Given the description of an element on the screen output the (x, y) to click on. 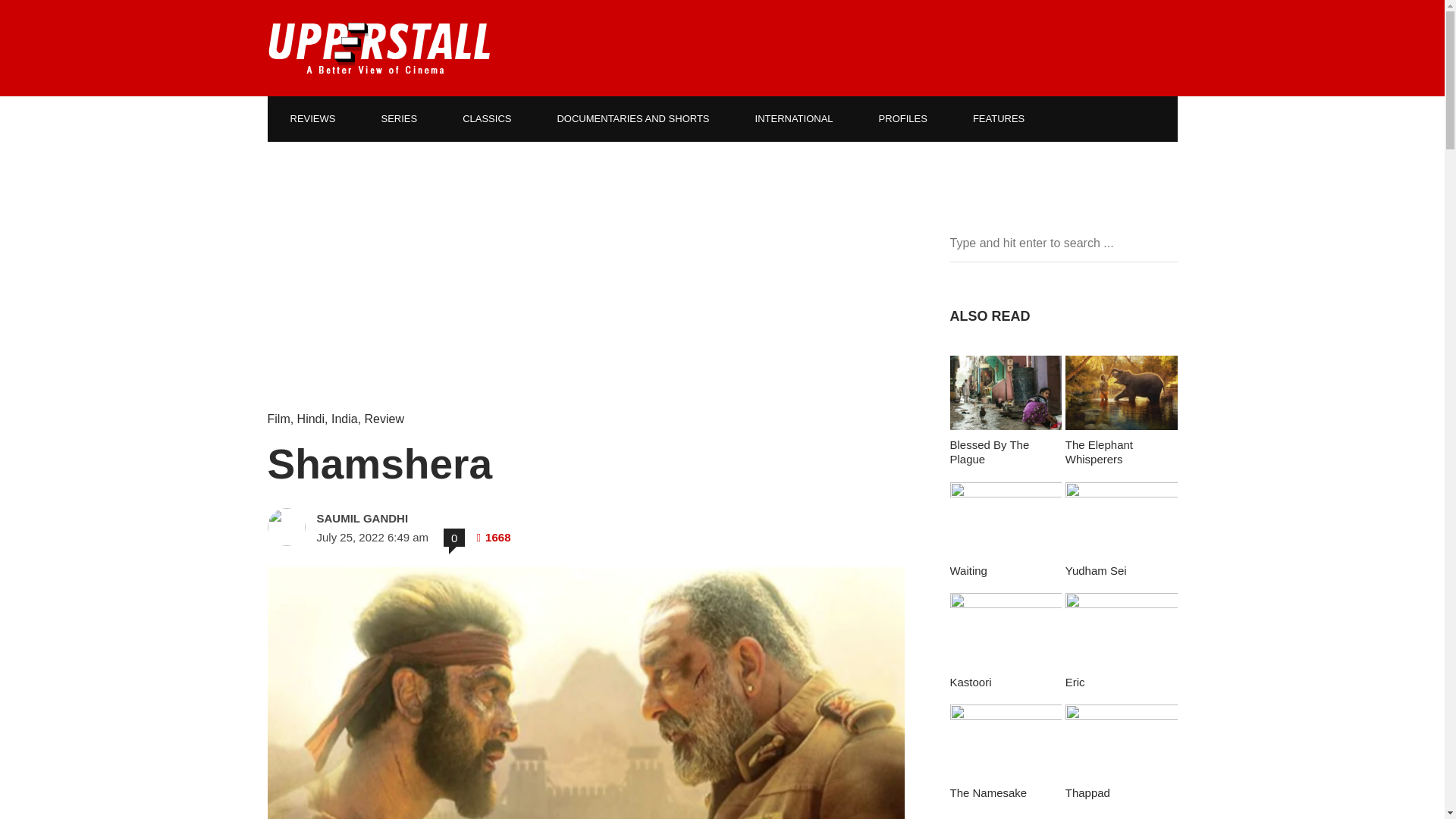
SERIES (398, 118)
DOCUMENTARIES AND SHORTS (633, 118)
Hindi (310, 418)
PROFILES (903, 118)
View all posts by Saumil Gandhi (422, 517)
FEATURES (998, 118)
SAUMIL GANDHI (422, 517)
REVIEWS (312, 118)
INTERNATIONAL (794, 118)
Views (493, 536)
Review (384, 418)
BY LANGUAGE (325, 164)
Type and hit enter to search ... (1062, 243)
India (344, 418)
Type and hit enter to search ... (1062, 243)
